Given the description of an element on the screen output the (x, y) to click on. 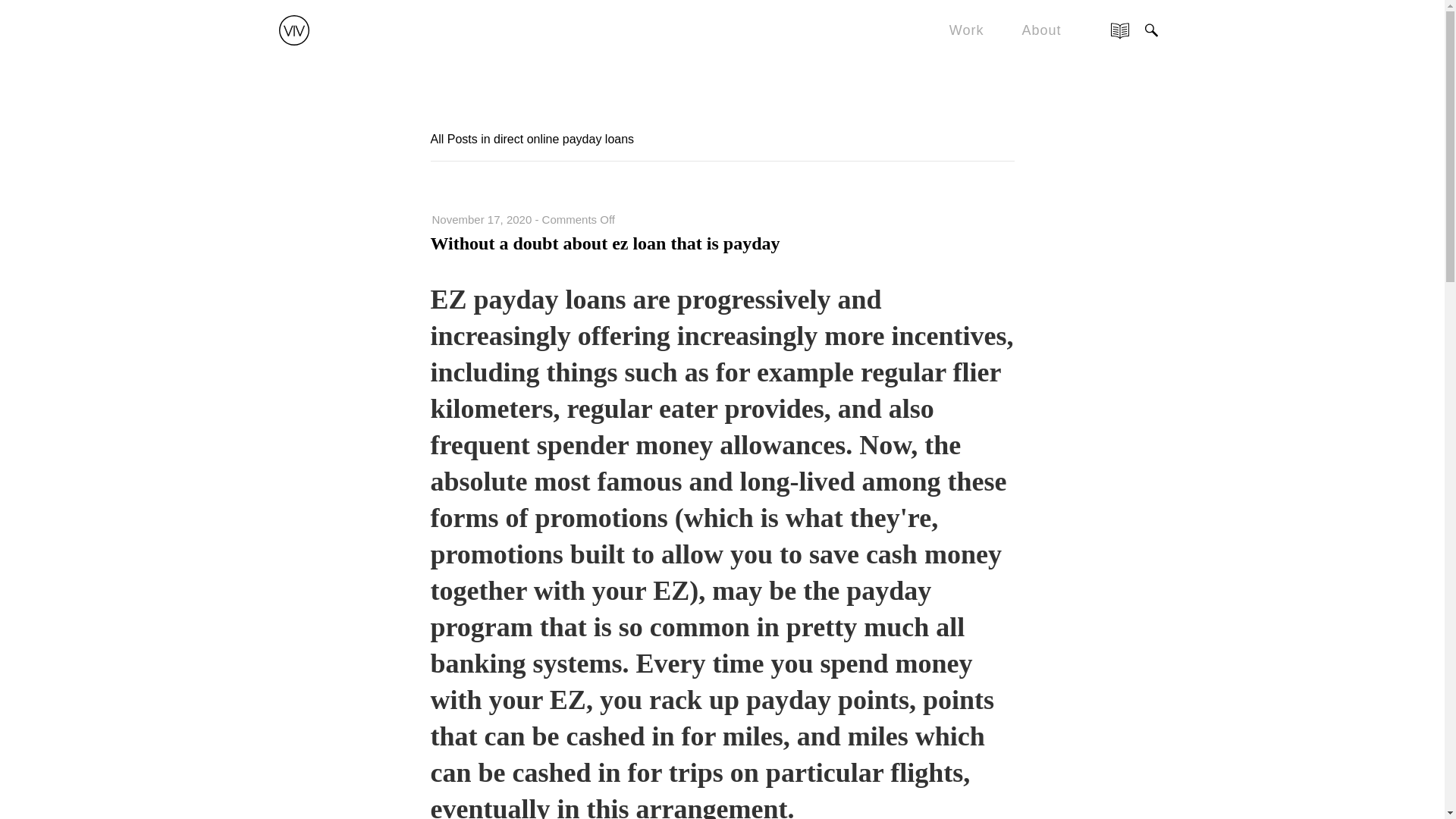
About (1041, 30)
vivdesignsf (293, 22)
Work (966, 30)
